Given the description of an element on the screen output the (x, y) to click on. 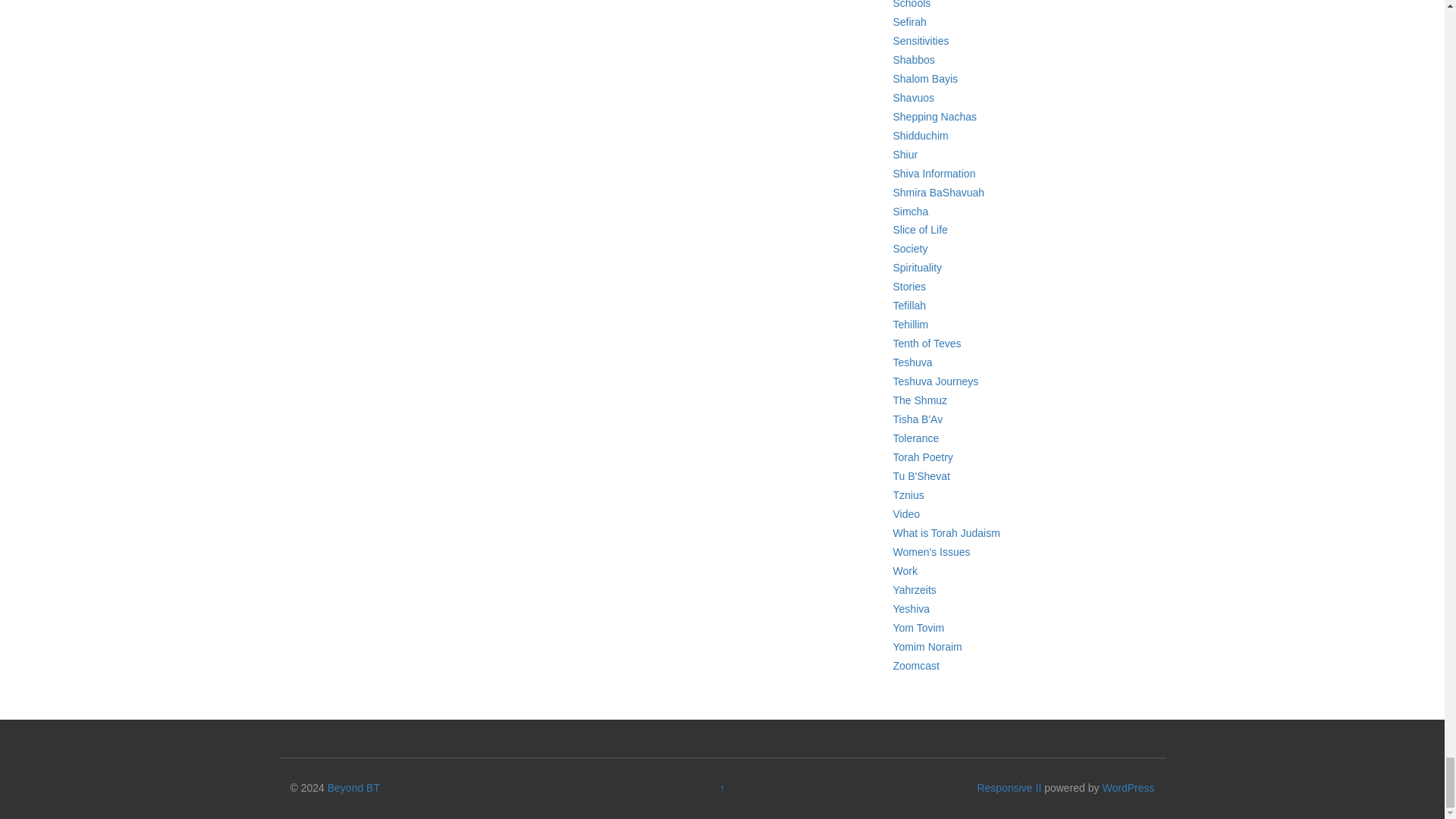
Beyond BT (353, 787)
